Given the description of an element on the screen output the (x, y) to click on. 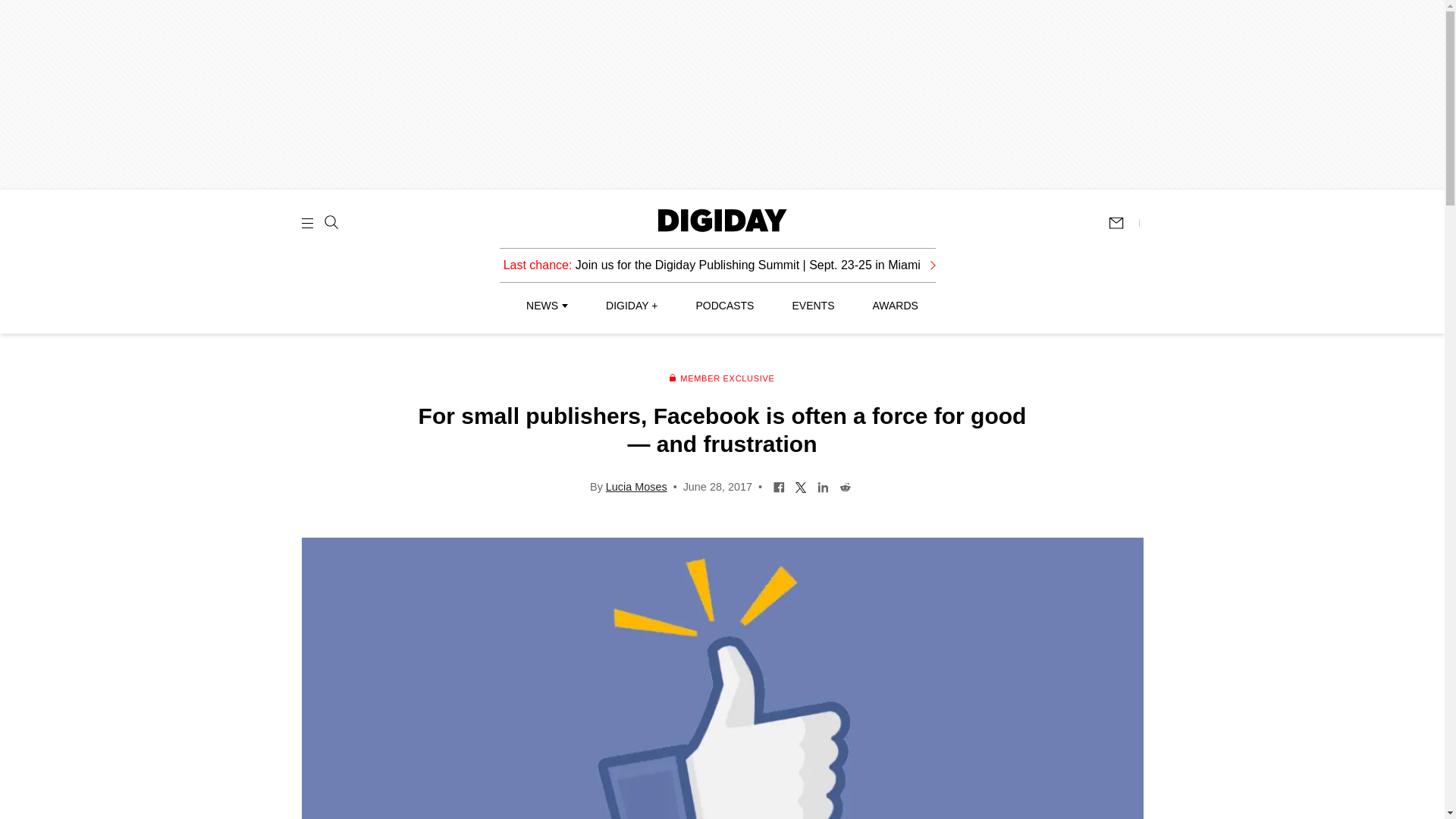
AWARDS (894, 305)
NEWS (546, 305)
Share on Reddit (844, 485)
Share on Facebook (779, 485)
Subscribe (1123, 223)
EVENTS (813, 305)
Share on LinkedIn (822, 485)
PODCASTS (725, 305)
Share on Twitter (801, 485)
